Given the description of an element on the screen output the (x, y) to click on. 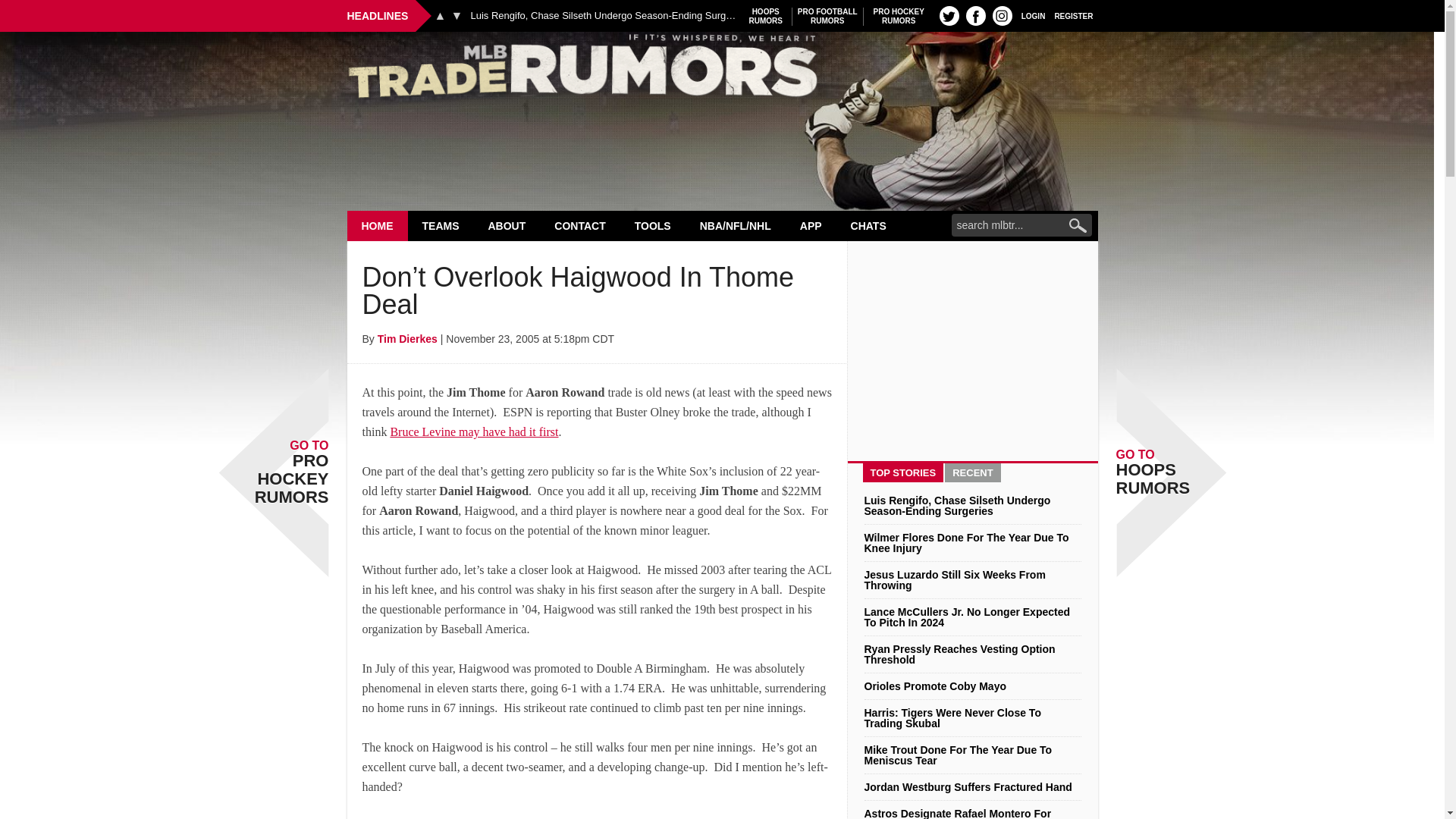
Twitter profile (949, 15)
MLB Trade Rumors (722, 69)
TEAMS (440, 225)
Instagram profile (1001, 15)
Luis Rengifo, Chase Silseth Undergo Season-Ending Surgeries (602, 15)
LOGIN (1032, 15)
REGISTER (1073, 15)
HOME (898, 16)
Previous (377, 225)
FB profile (439, 15)
Next (827, 16)
